Given the description of an element on the screen output the (x, y) to click on. 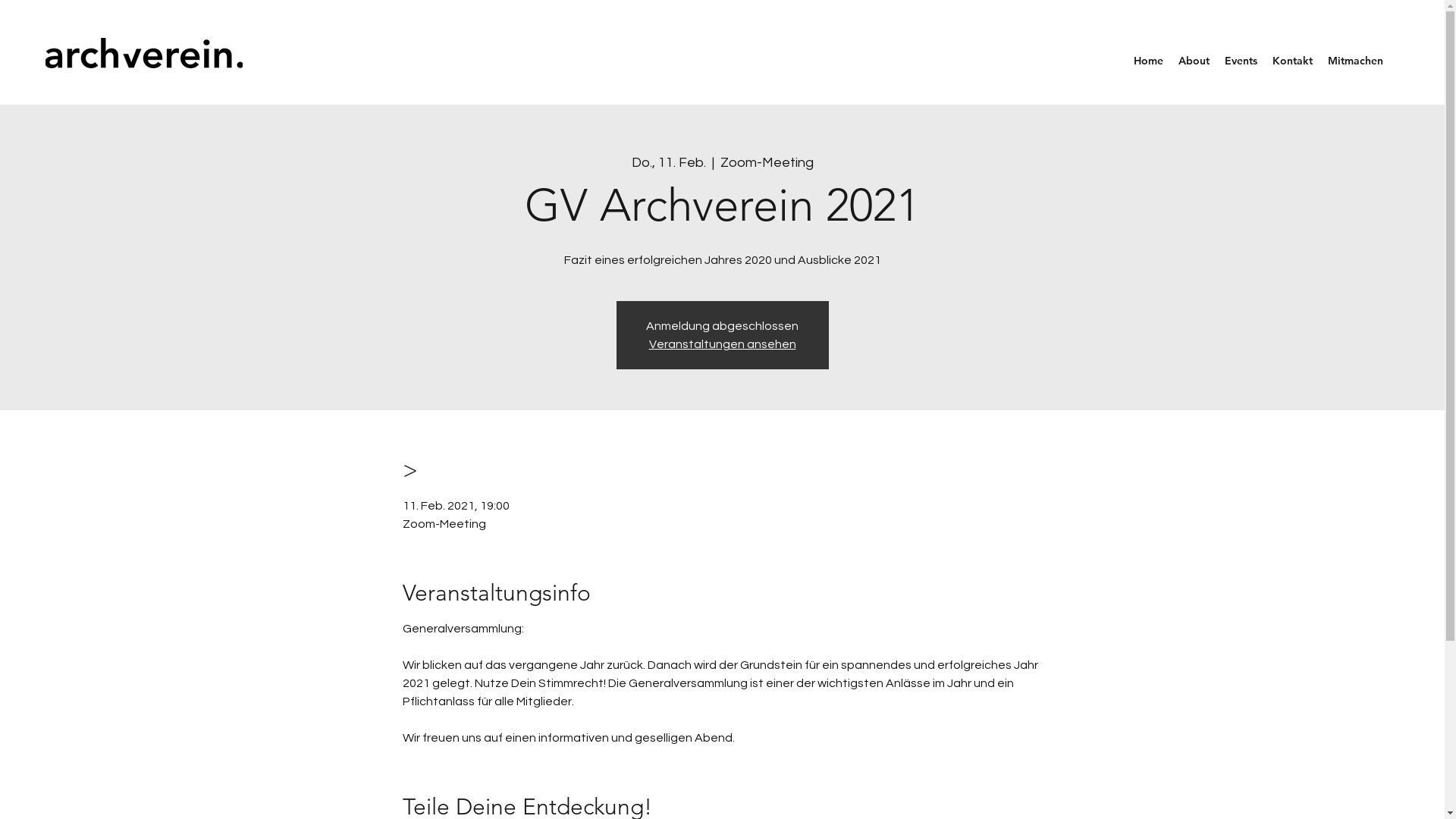
About Element type: text (1193, 60)
Mitmachen Element type: text (1355, 60)
Veranstaltungen ansehen Element type: text (722, 344)
02 Schriftzug.png Element type: hover (143, 52)
Kontakt Element type: text (1292, 60)
Events Element type: text (1240, 60)
Home Element type: text (1148, 60)
